Given the description of an element on the screen output the (x, y) to click on. 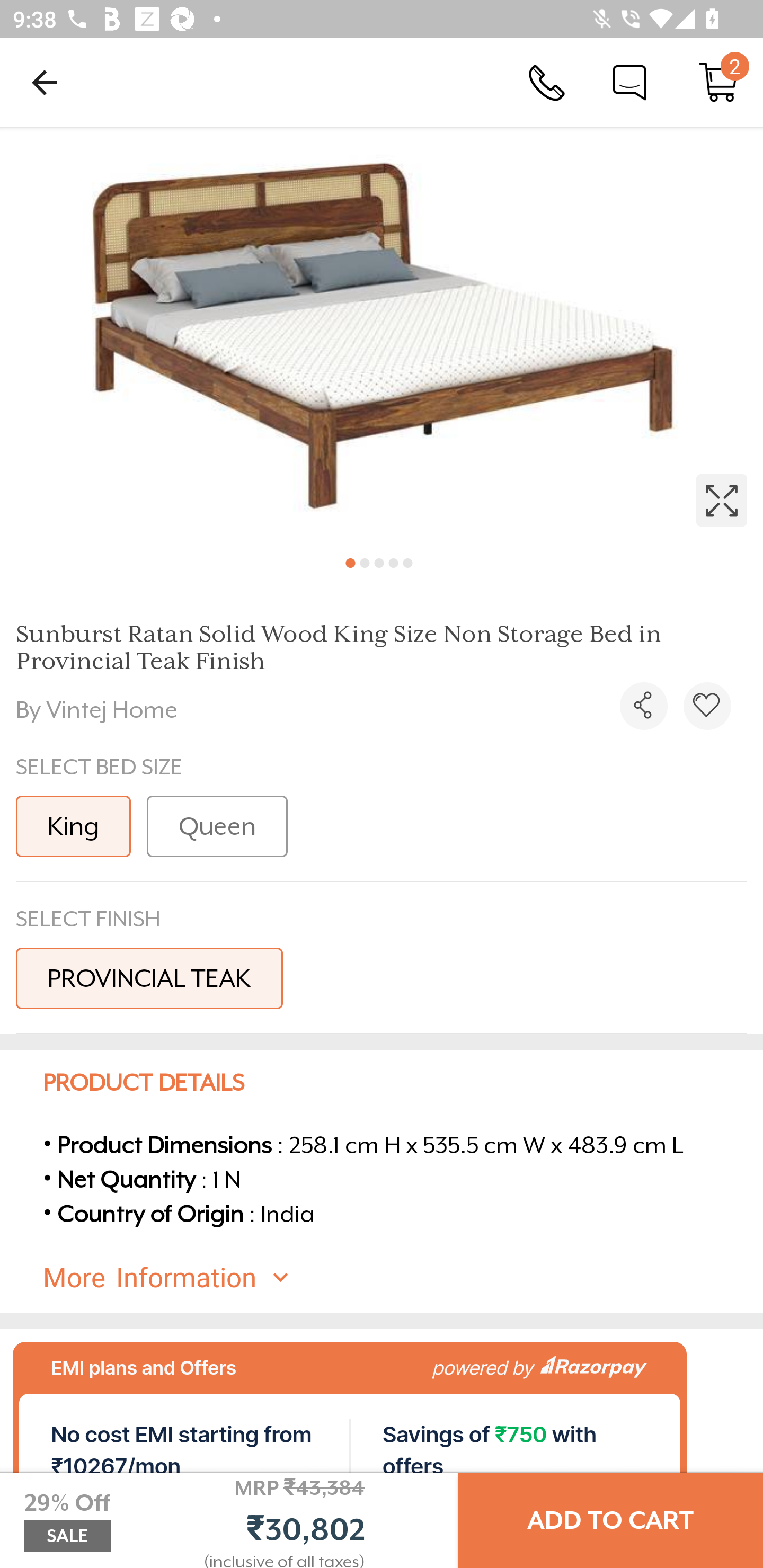
Navigate up (44, 82)
Call Us (546, 81)
Chat (629, 81)
Cart (718, 81)
 (381, 334)
 (643, 706)
 (706, 706)
King (73, 825)
Queen (216, 825)
PROVINCIAL TEAK (149, 978)
More Information  (396, 1277)
ADD TO CART (610, 1520)
